Given the description of an element on the screen output the (x, y) to click on. 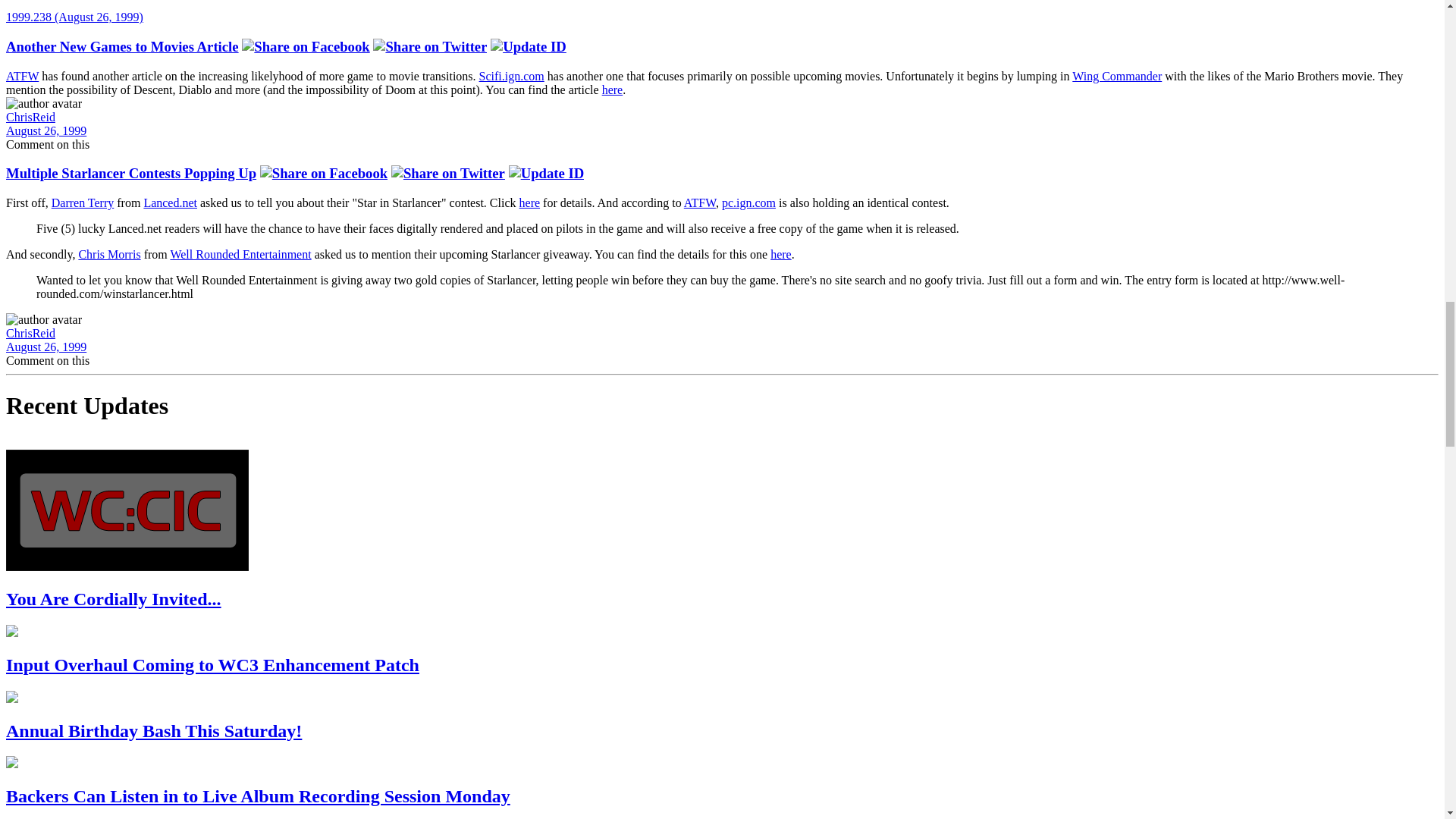
Share on Twitter (448, 173)
Share on Facebook (323, 173)
Share on Twitter (429, 46)
Share on Facebook (305, 46)
